Given the description of an element on the screen output the (x, y) to click on. 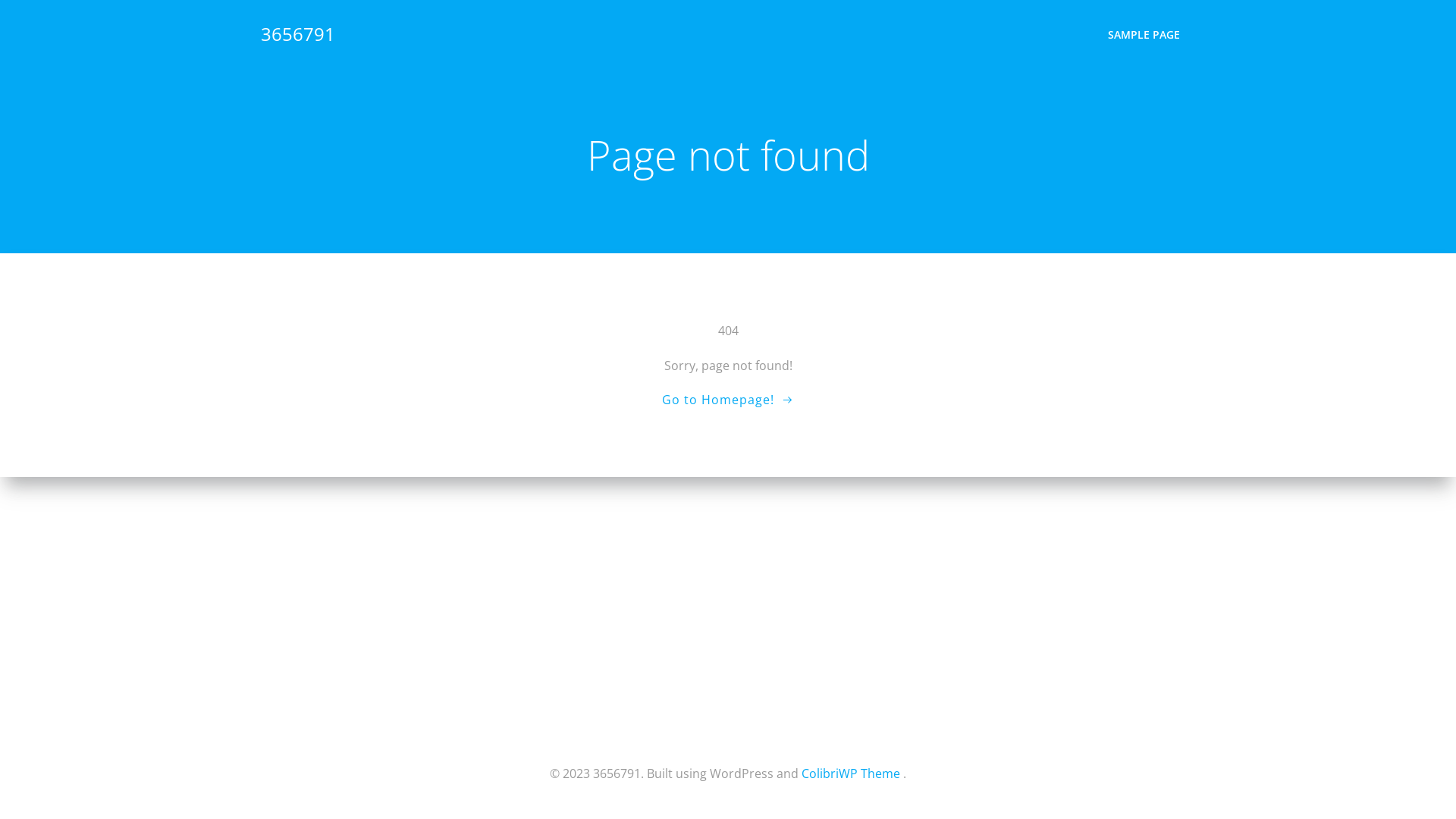
Go to Homepage! Element type: text (727, 399)
SAMPLE PAGE Element type: text (1143, 33)
3656791 Element type: text (297, 33)
ColibriWP Theme Element type: text (850, 773)
